Given the description of an element on the screen output the (x, y) to click on. 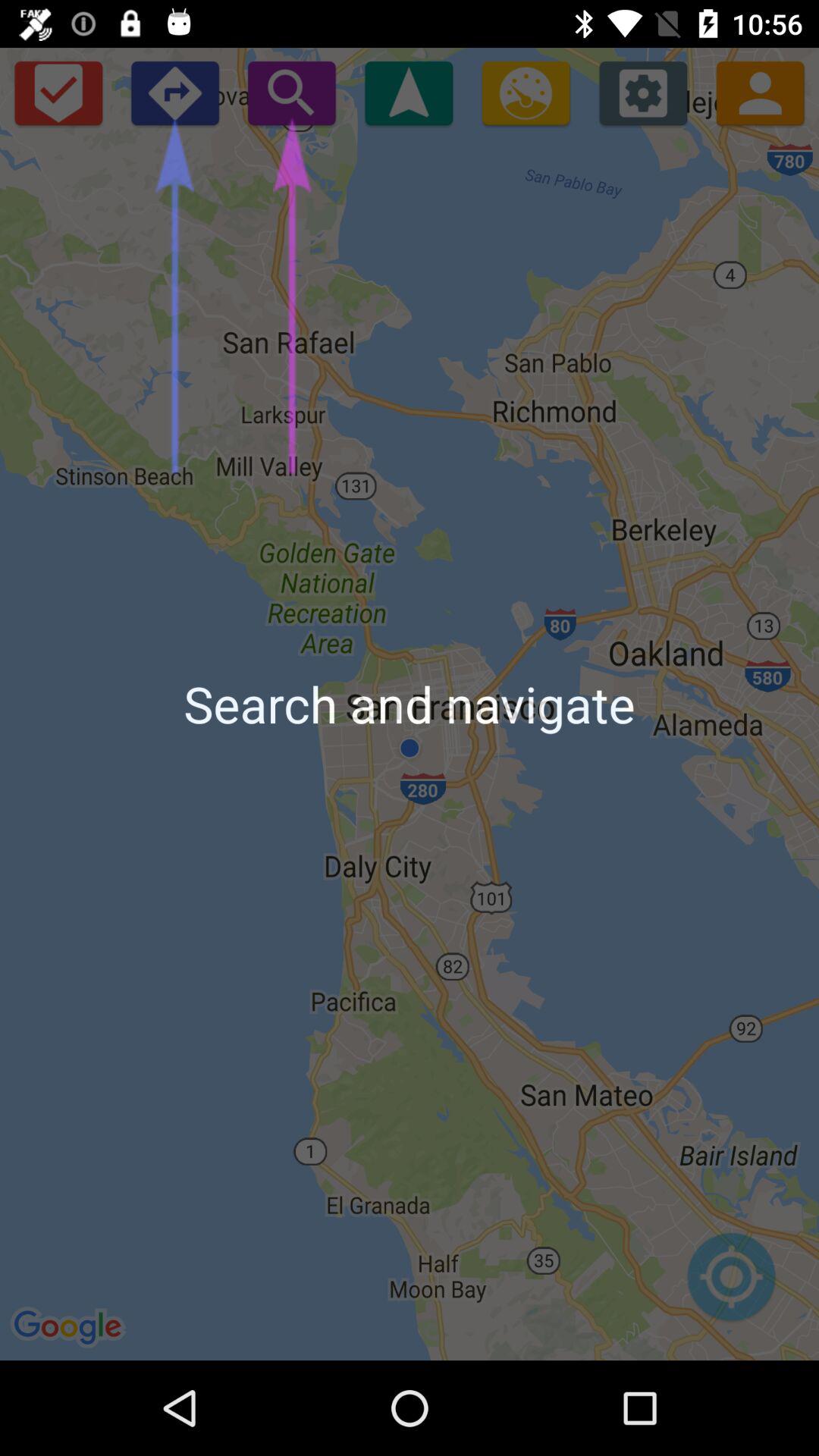
show your location (731, 1284)
